Given the description of an element on the screen output the (x, y) to click on. 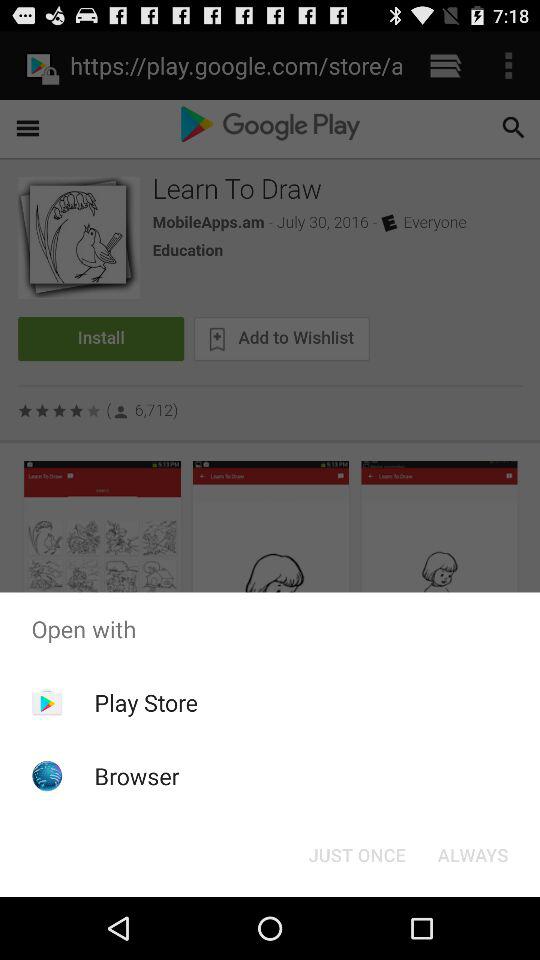
choose icon below open with icon (146, 702)
